Given the description of an element on the screen output the (x, y) to click on. 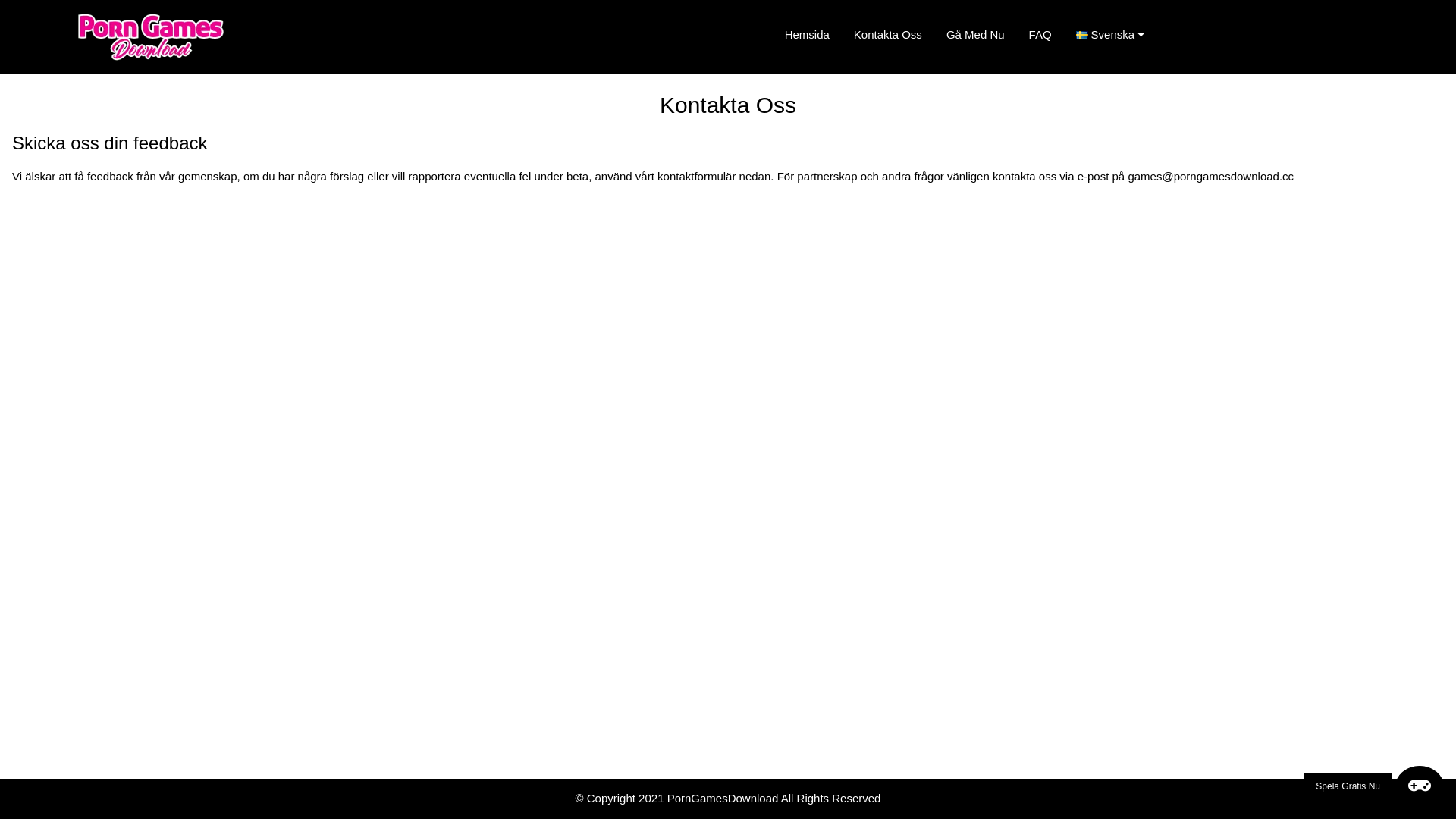
Kontakta Oss Element type: text (887, 35)
Svenska Element type: text (1116, 35)
FAQ Element type: text (1039, 35)
Spela Gratis Nu Element type: text (1373, 785)
Hemsida Element type: text (806, 35)
